Given the description of an element on the screen output the (x, y) to click on. 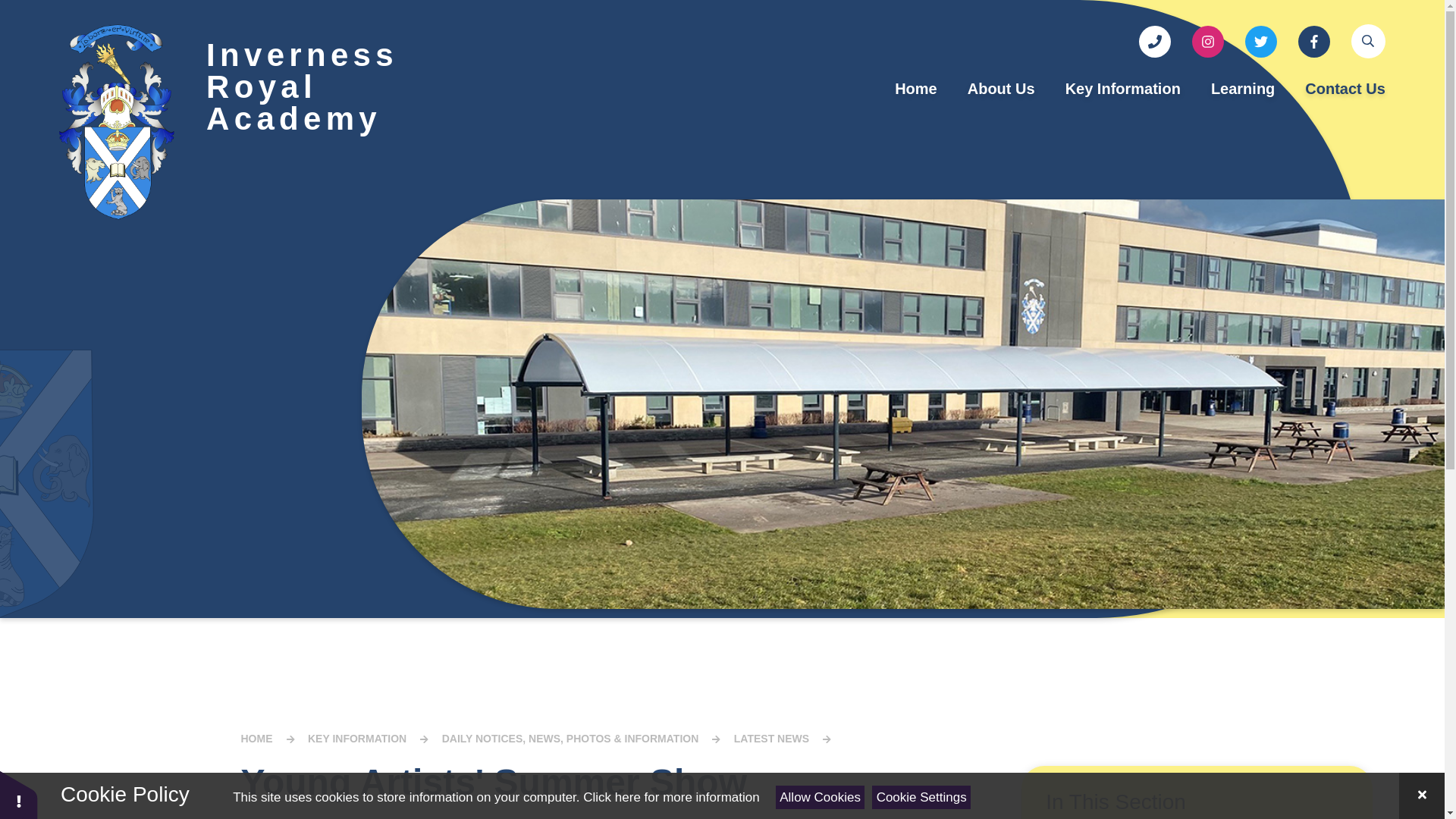
Home (915, 88)
Twitter (1260, 41)
Facebook (1314, 41)
About Us (1000, 88)
Key Information (1122, 88)
Instagram (1208, 41)
Contact (1154, 41)
